Given the description of an element on the screen output the (x, y) to click on. 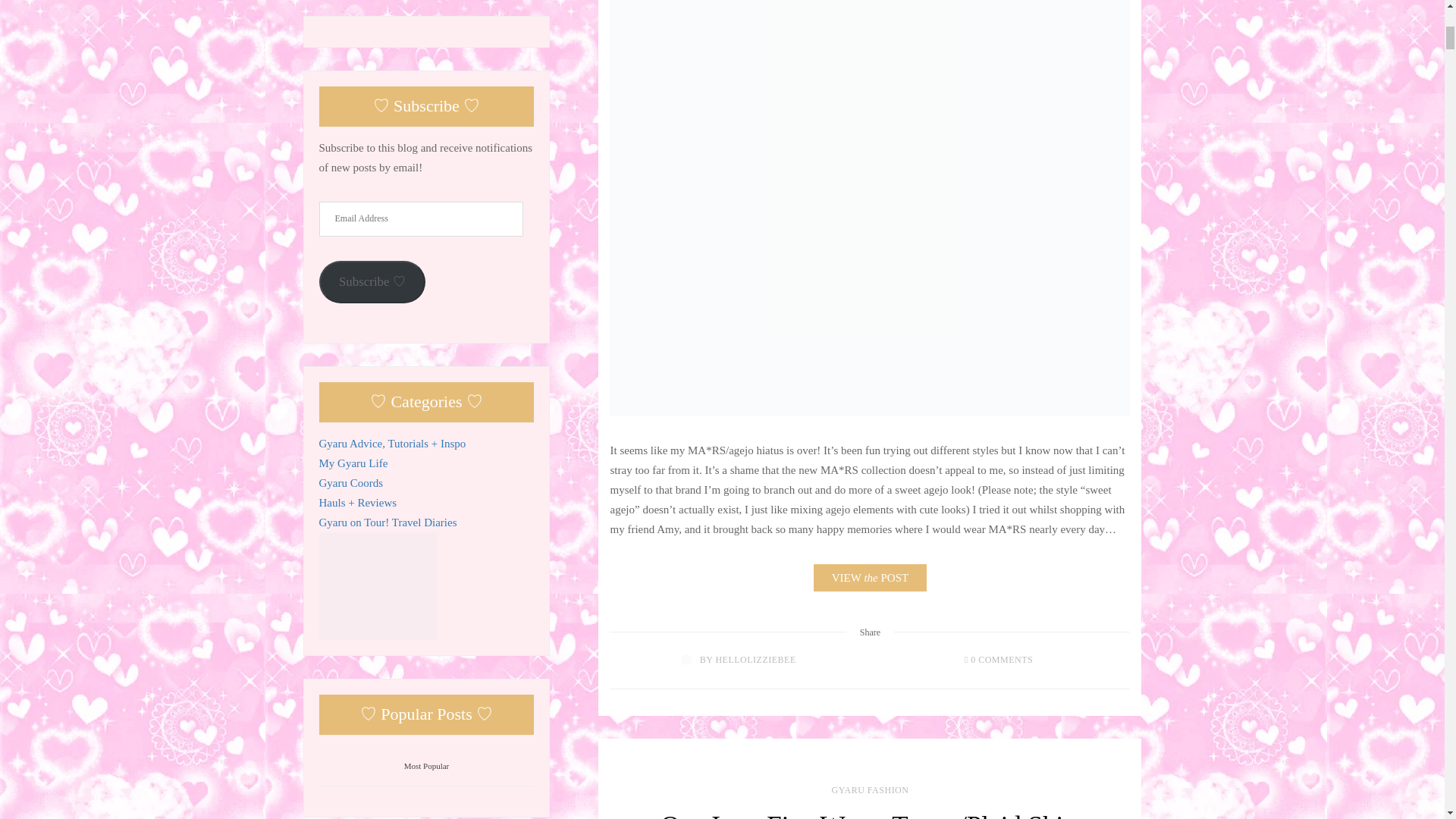
Posts by hellolizziebee (754, 659)
